Given the description of an element on the screen output the (x, y) to click on. 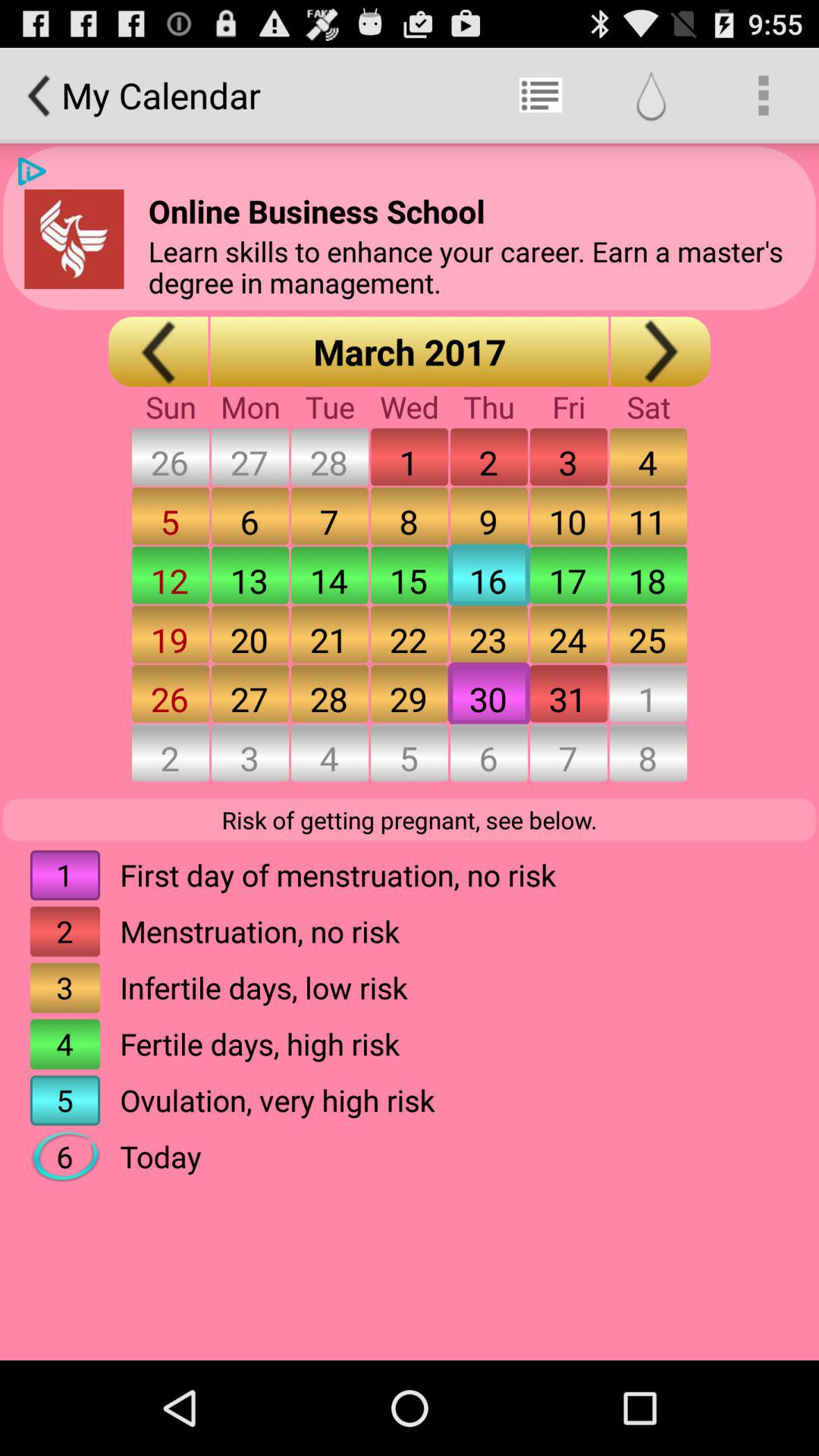
go back (158, 351)
